Given the description of an element on the screen output the (x, y) to click on. 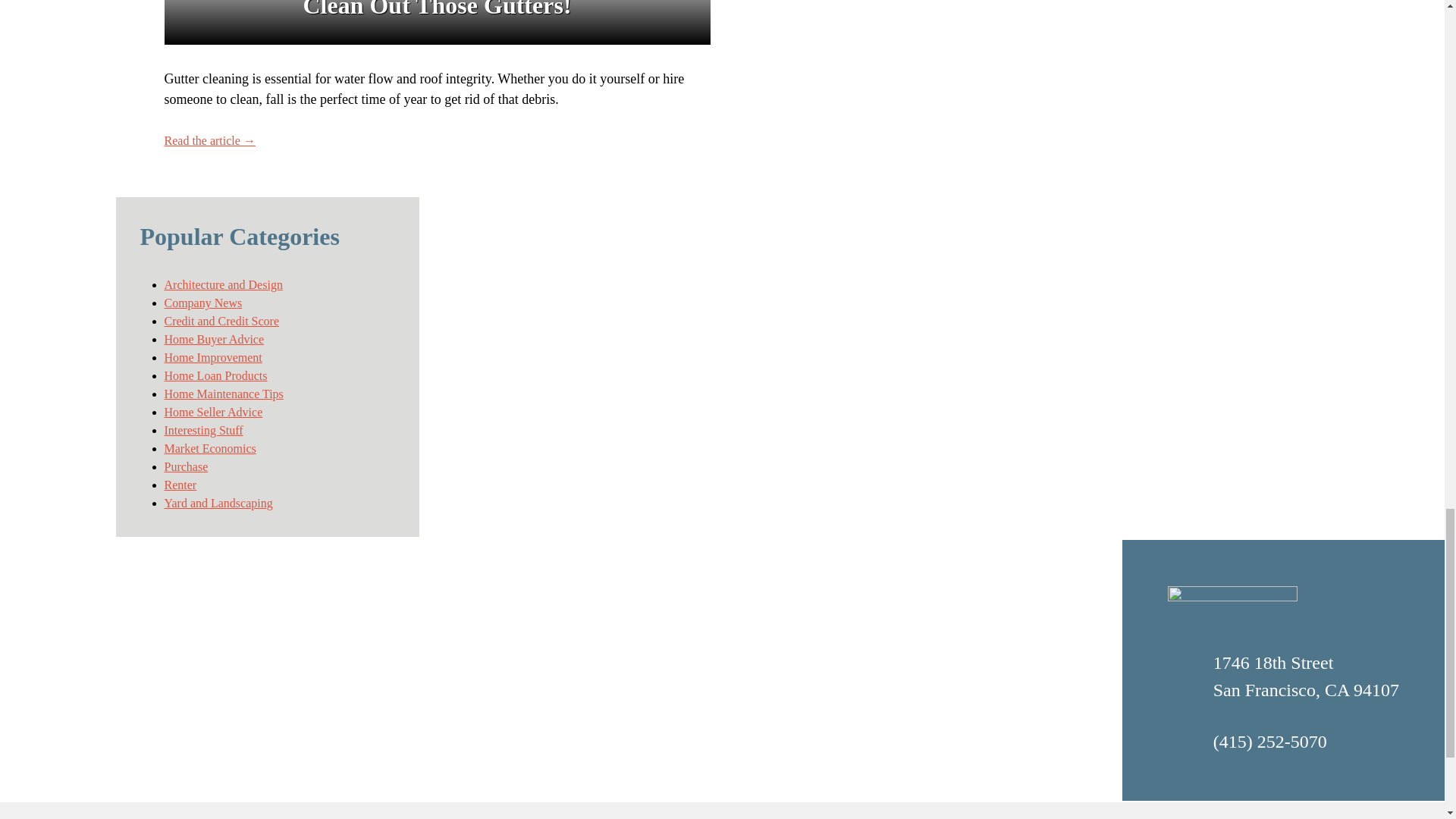
Home Buyer Advice (213, 338)
Company News (202, 302)
Credit and Credit Score (221, 320)
Architecture and Design (222, 284)
